Given the description of an element on the screen output the (x, y) to click on. 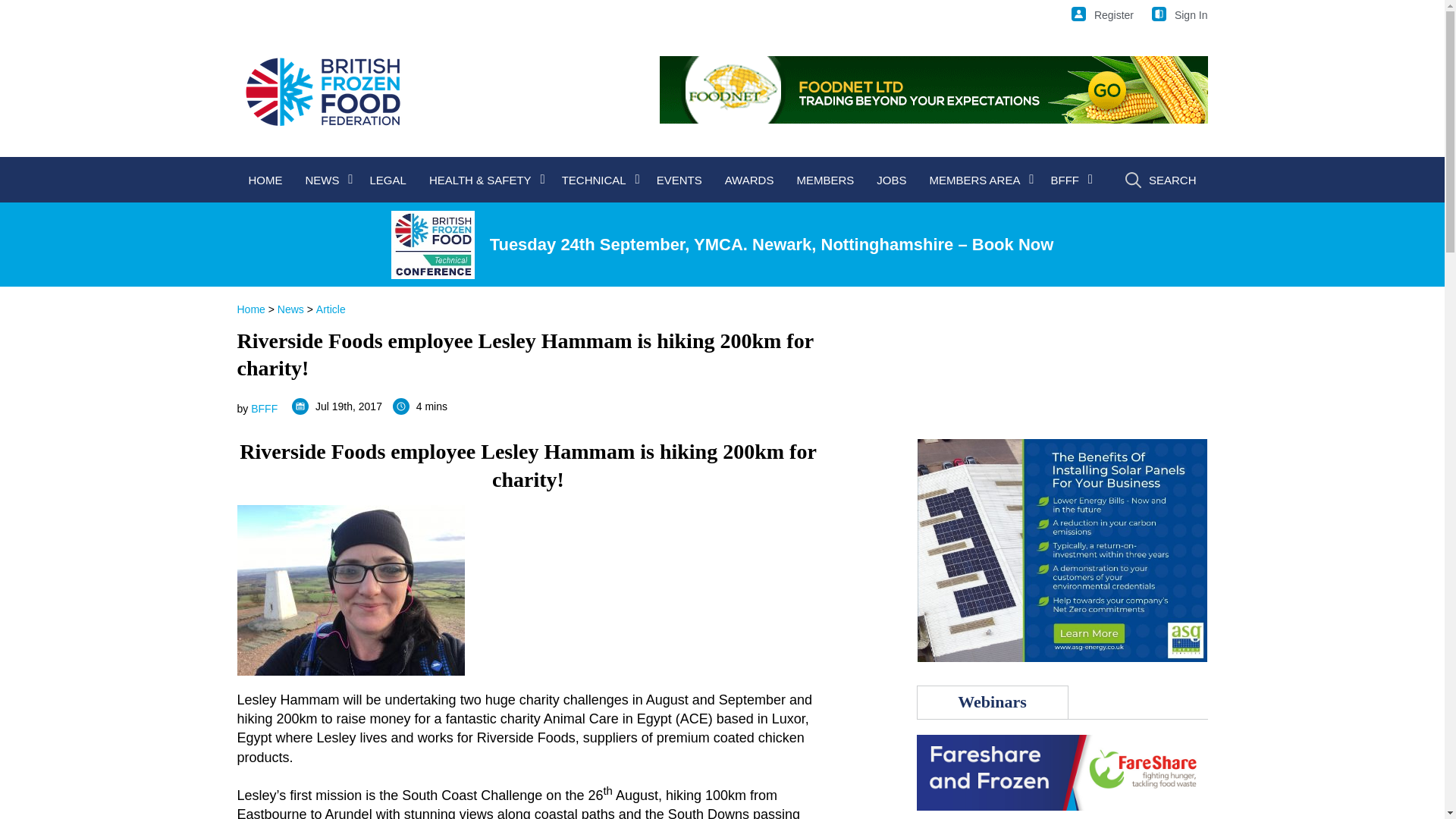
NEWS (326, 179)
Register (1102, 15)
HOME (264, 179)
LEGAL (387, 179)
Sign In (1179, 15)
TECHNICAL (597, 179)
